Given the description of an element on the screen output the (x, y) to click on. 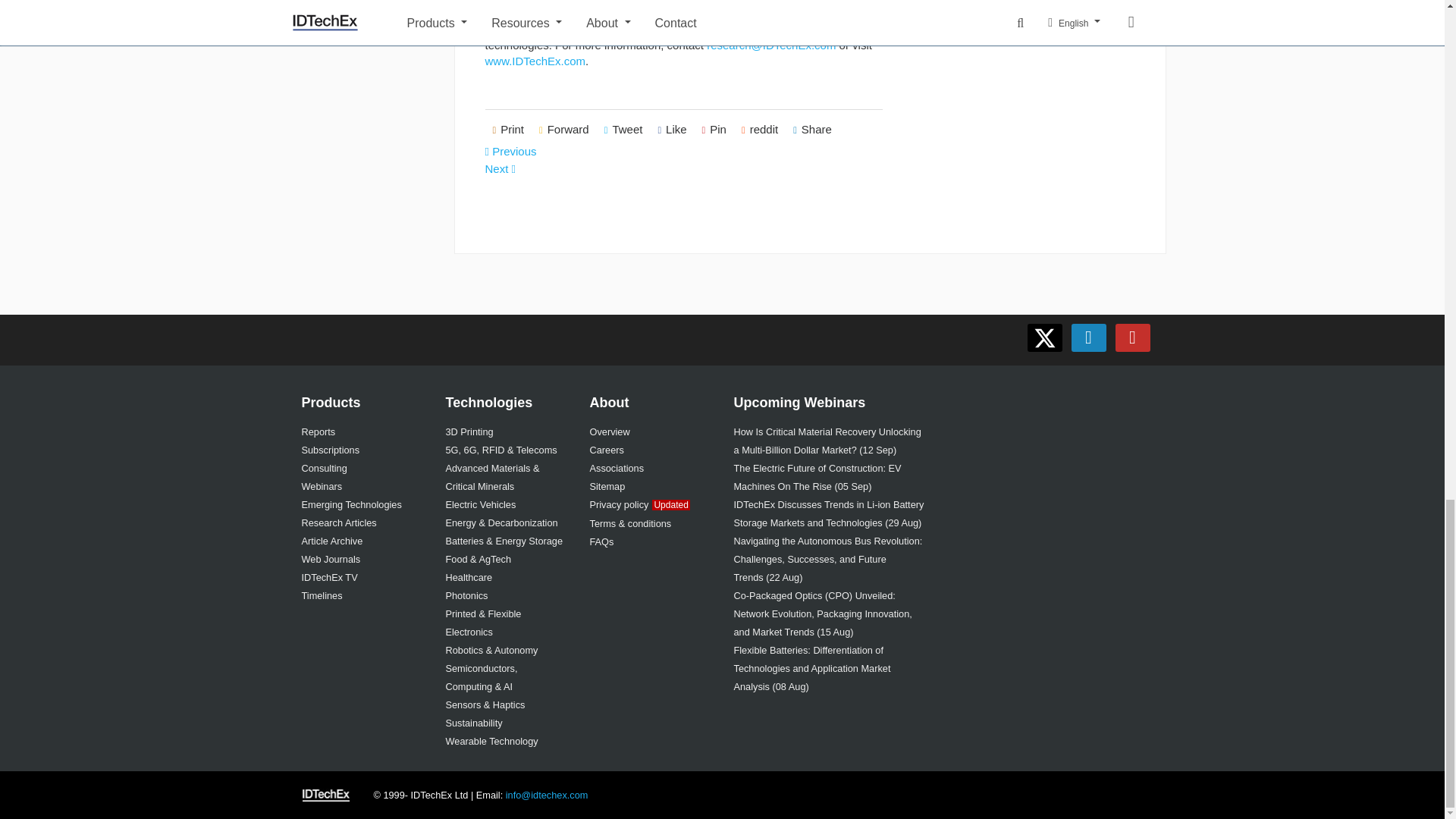
Emerging Technologies (351, 504)
Webinars (321, 486)
Share on Twitter (623, 129)
3D Printing (469, 431)
Share on LinkedIn (813, 129)
Web Journals (331, 559)
Consulting (324, 468)
Timelines (321, 595)
Forward to a Friend (563, 129)
IDTechEx TV (329, 577)
Research Articles (339, 522)
Share on Facebook (671, 129)
Share on Reddit (759, 129)
Share on Pinterest (713, 129)
Subscriptions (330, 449)
